Given the description of an element on the screen output the (x, y) to click on. 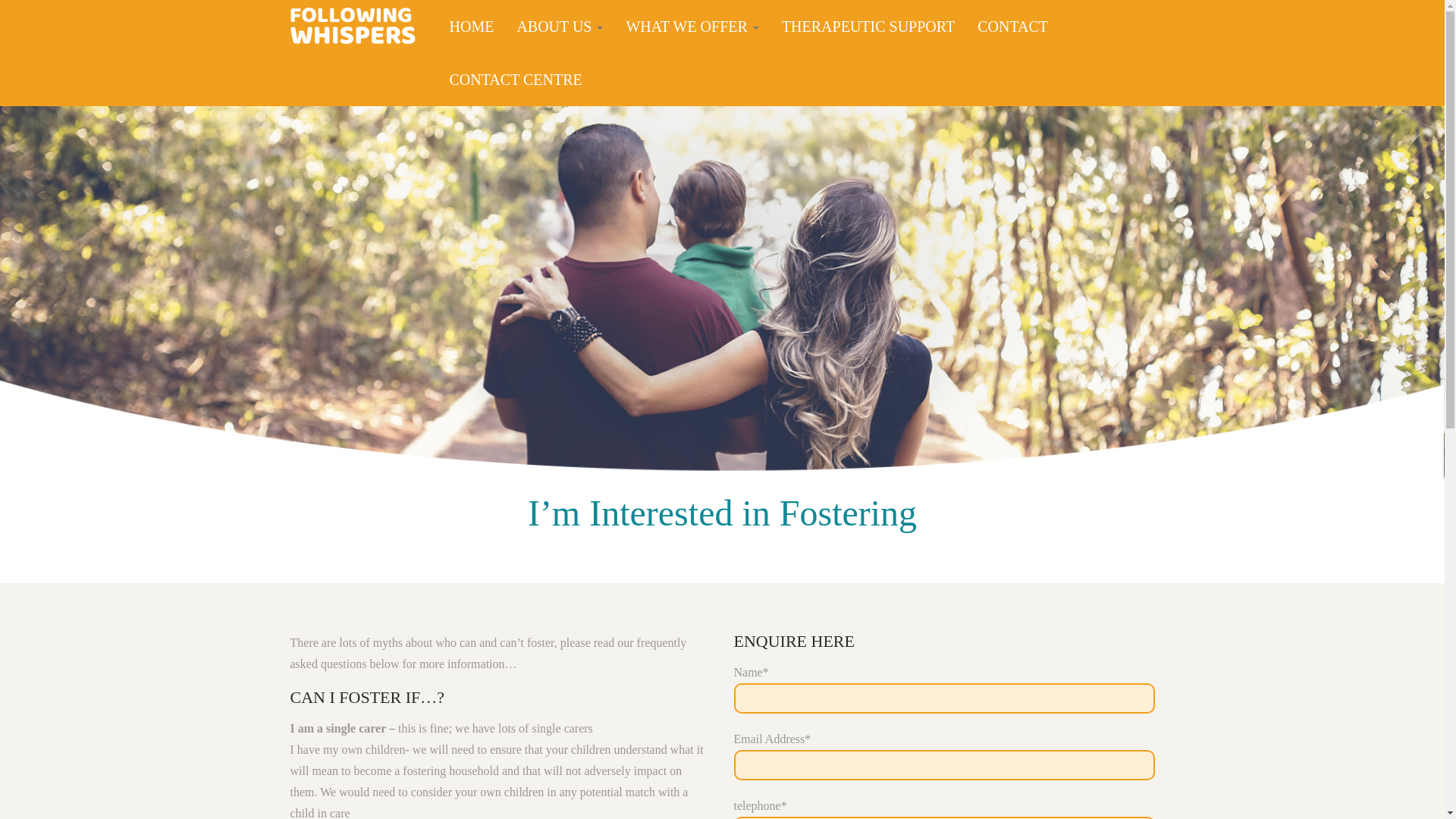
THERAPEUTIC SUPPORT (868, 26)
Following  Whispers (351, 20)
ABOUT US (559, 26)
HOME (470, 26)
WHAT WE OFFER (692, 26)
CONTACT CENTRE (514, 79)
CONTACT (1012, 26)
